Given the description of an element on the screen output the (x, y) to click on. 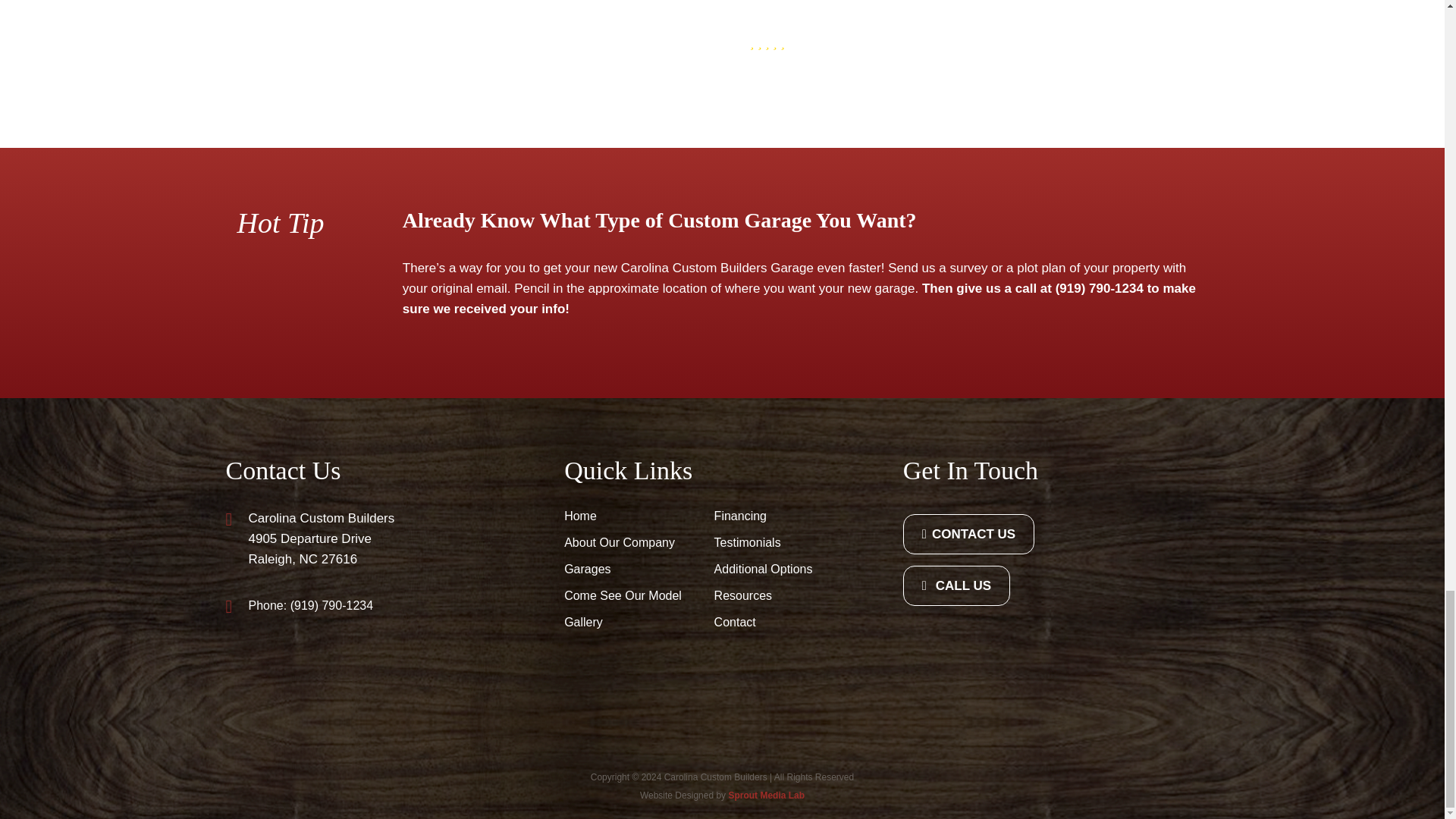
About Our Company (630, 542)
Financing (780, 515)
Garages (630, 569)
Testimonials (780, 542)
Additional Options (780, 569)
Home (630, 515)
